Given the description of an element on the screen output the (x, y) to click on. 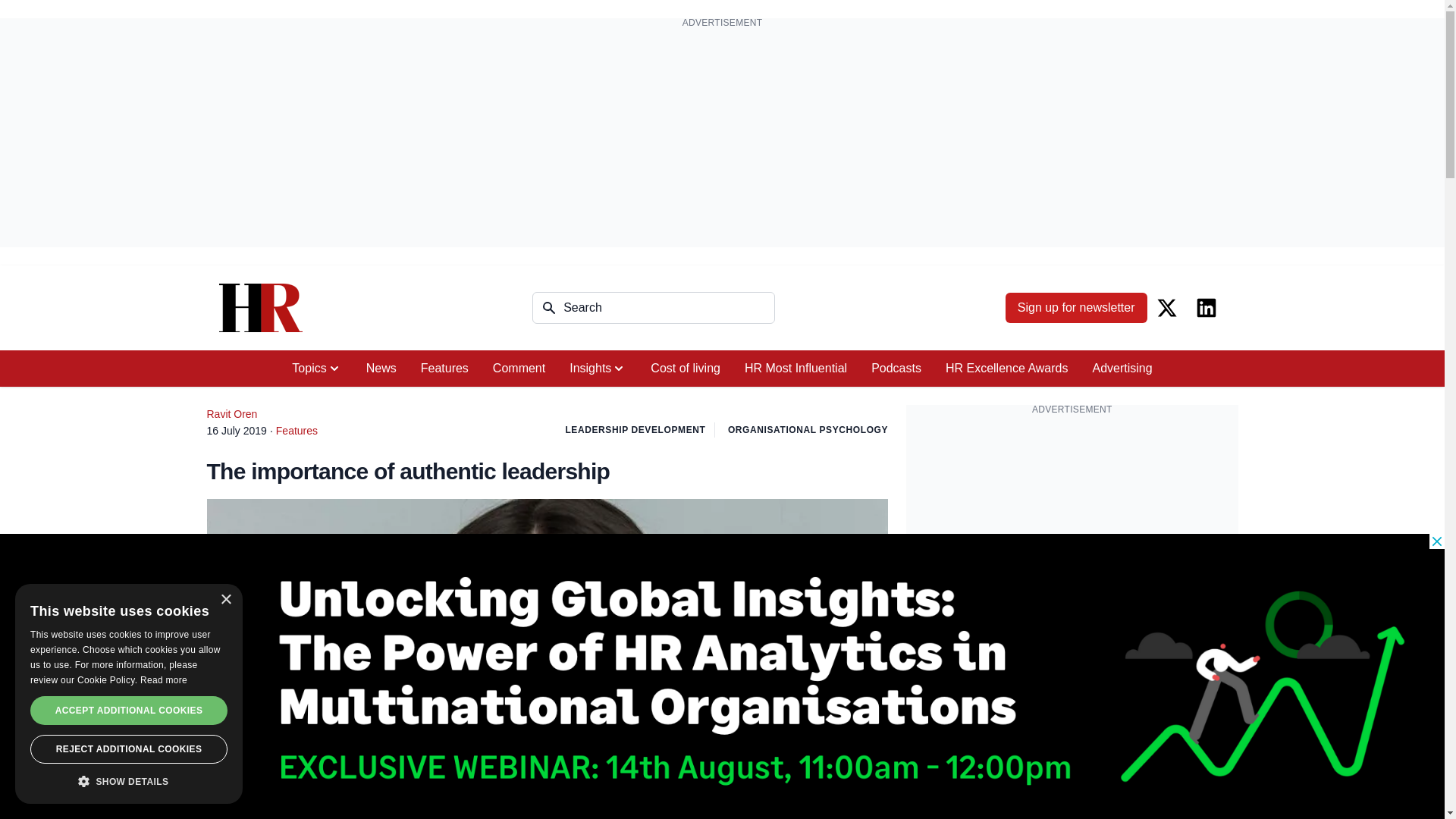
Sign up for newsletter (1076, 307)
Insights (598, 368)
3rd party ad content (1072, 520)
News (381, 368)
Features (444, 368)
Topics (316, 368)
HR Most Influential (795, 368)
Cost of living (685, 368)
Comment (518, 368)
